Given the description of an element on the screen output the (x, y) to click on. 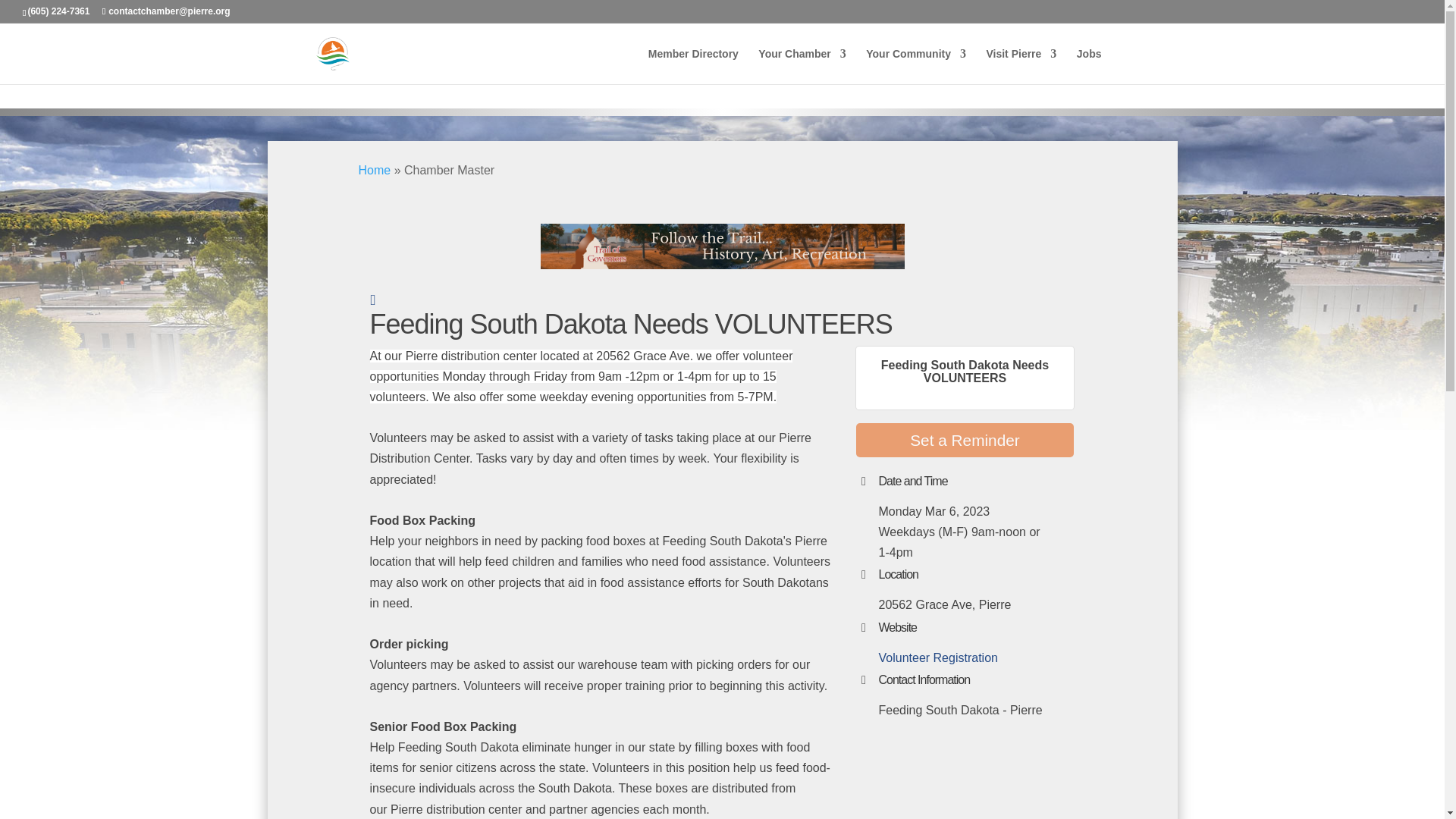
Your Community (916, 66)
Your Chamber (801, 66)
Member Directory (692, 66)
